Given the description of an element on the screen output the (x, y) to click on. 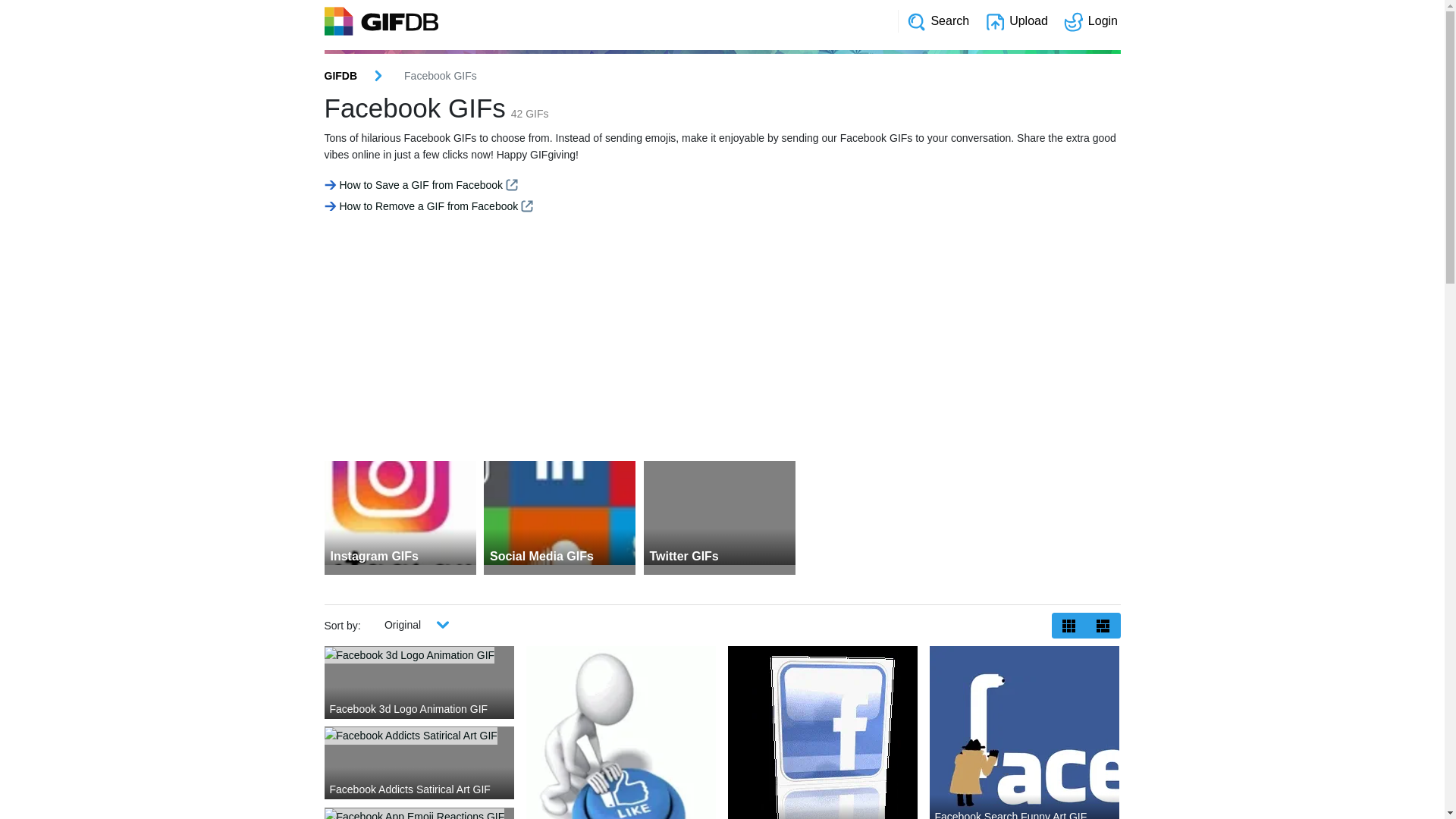
Instagram GIFs Element type: hover (400, 507)
How to Remove a GIF from Facebook Element type: text (428, 205)
Facebook Addicts Satirical Art GIF Element type: hover (419, 734)
How to Save a GIF from Facebook Element type: text (421, 184)
Facebook 3d Logo Animation GIF Element type: hover (419, 654)
Social Media GIFs Element type: hover (559, 507)
GIFDB Element type: text (340, 75)
